Given the description of an element on the screen output the (x, y) to click on. 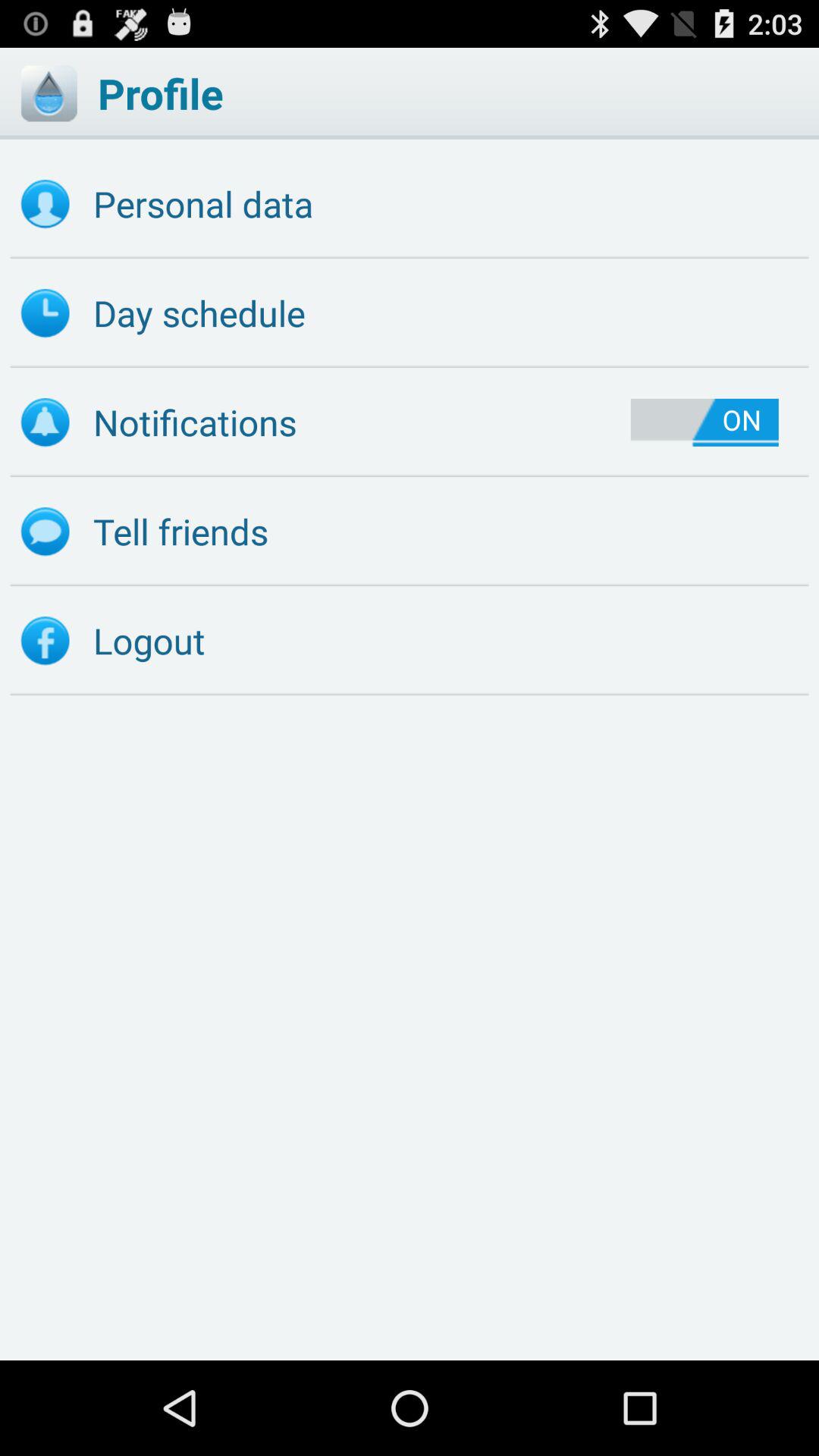
scroll to day schedule button (409, 312)
